Given the description of an element on the screen output the (x, y) to click on. 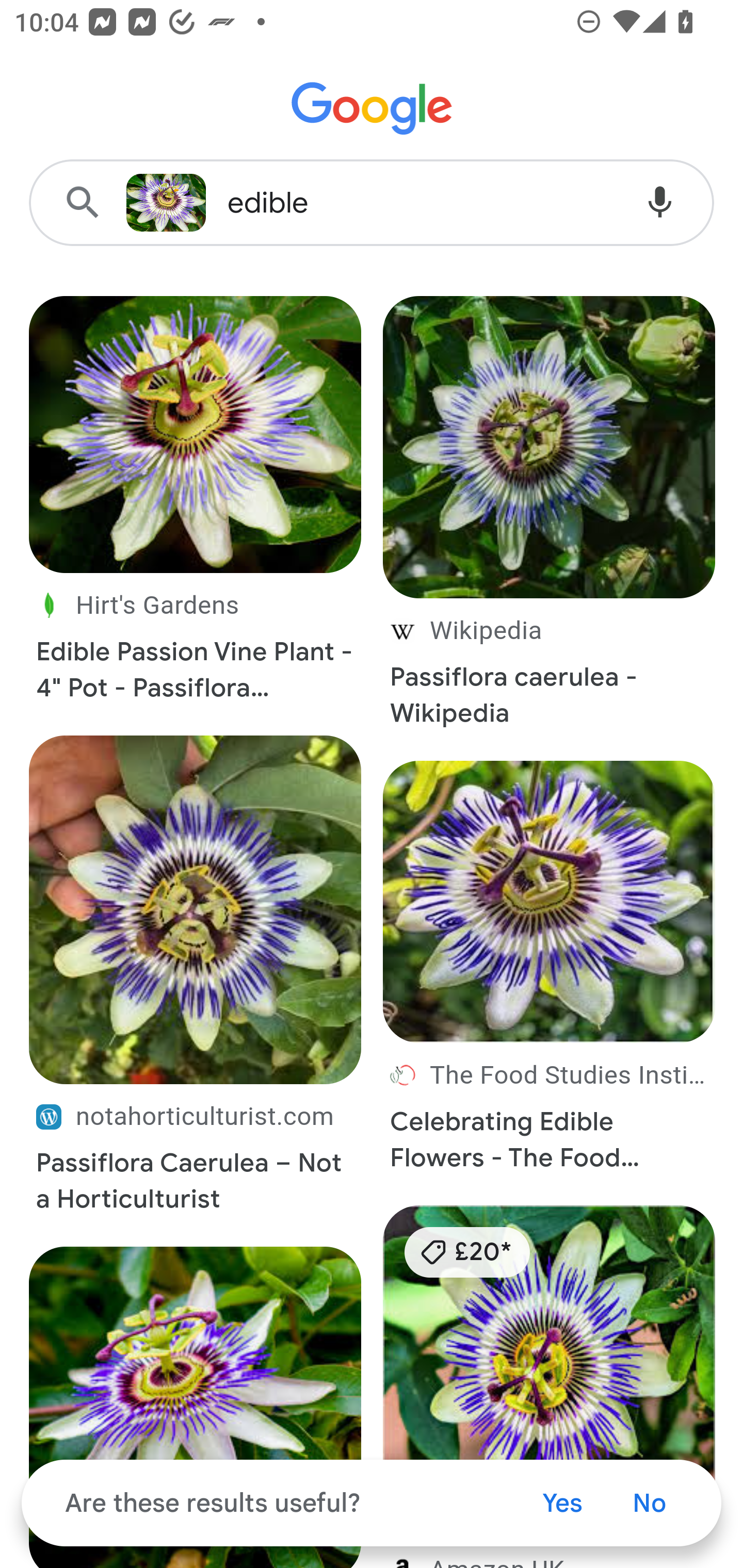
Voice Search (659, 202)
Back to original image (165, 203)
Passiflora caerulea - Wikipedia from Wikipedia (549, 521)
Passiflora caerulea - Wikipedia from Wikipedia (549, 672)
Yes Yes, these results are useful. (562, 1502)
No No, these results are not useful. (648, 1502)
